Given the description of an element on the screen output the (x, y) to click on. 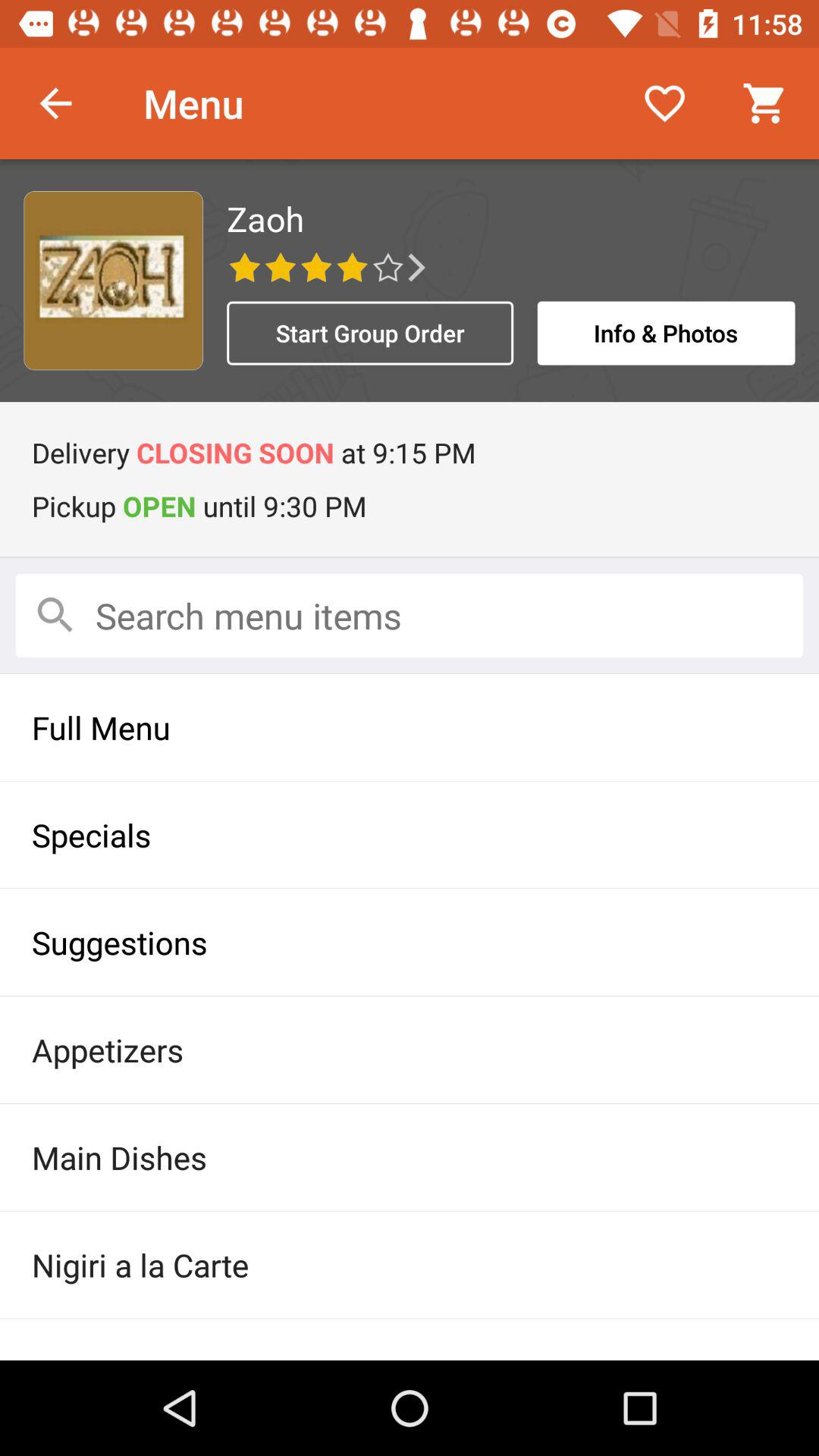
choose start group order icon (369, 333)
